Given the description of an element on the screen output the (x, y) to click on. 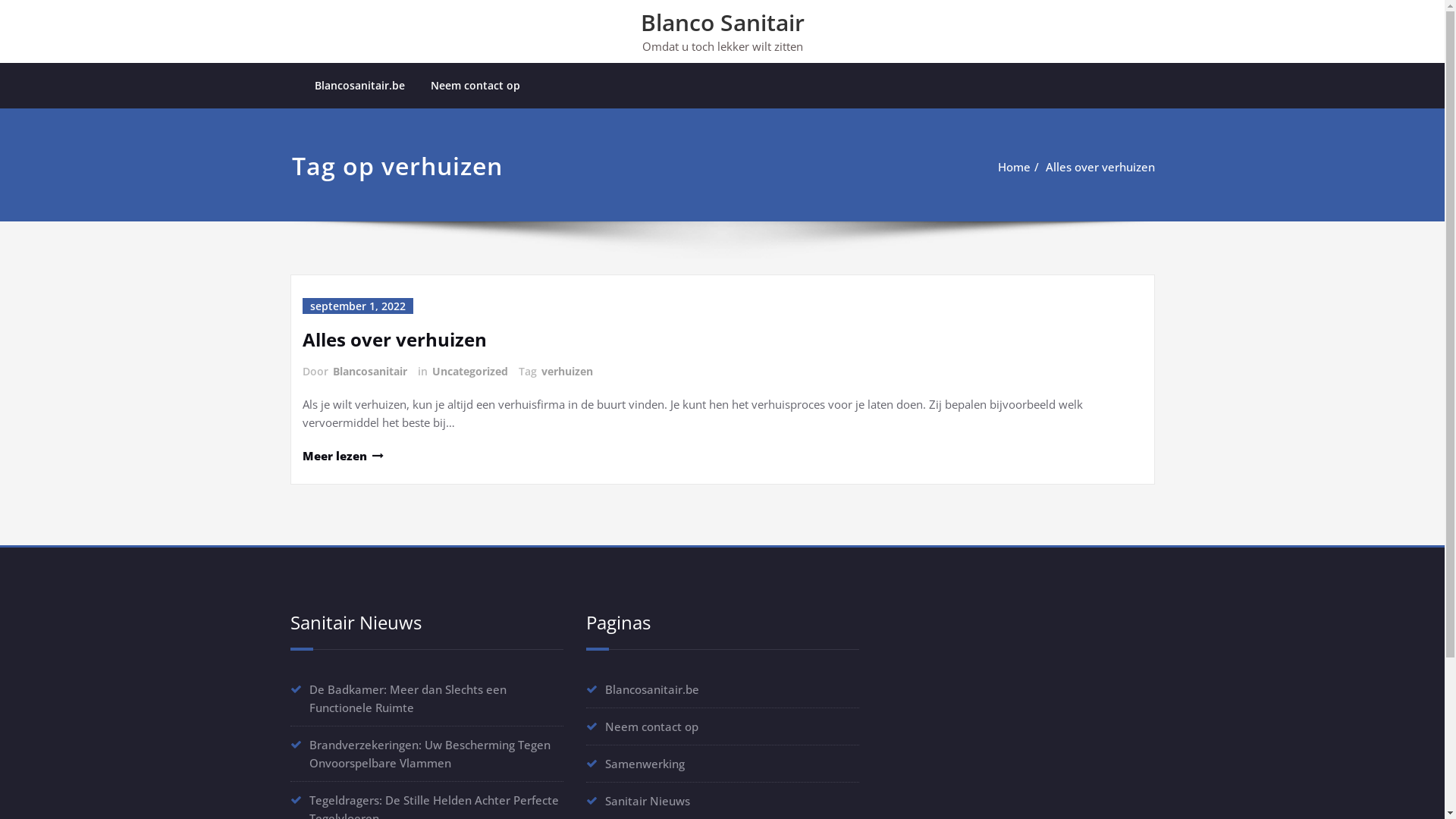
Alles over verhuizen Element type: text (1099, 166)
Sanitair Nieuws Element type: text (647, 800)
Samenwerking Element type: text (644, 763)
Home Element type: text (1013, 166)
Neem contact op Element type: text (651, 726)
verhuizen Element type: text (566, 371)
Blancosanitair.be Element type: text (359, 85)
Blancosanitair.be Element type: text (652, 688)
september 1, 2022 Element type: text (356, 305)
Meer lezen Element type: text (341, 455)
Alles over verhuizen Element type: text (393, 338)
Uncategorized Element type: text (469, 371)
De Badkamer: Meer dan Slechts een Functionele Ruimte Element type: text (407, 698)
Neem contact op Element type: text (474, 85)
Blanco Sanitair Element type: text (721, 21)
Blancosanitair Element type: text (368, 371)
Skip to content Element type: text (0, 0)
